Given the description of an element on the screen output the (x, y) to click on. 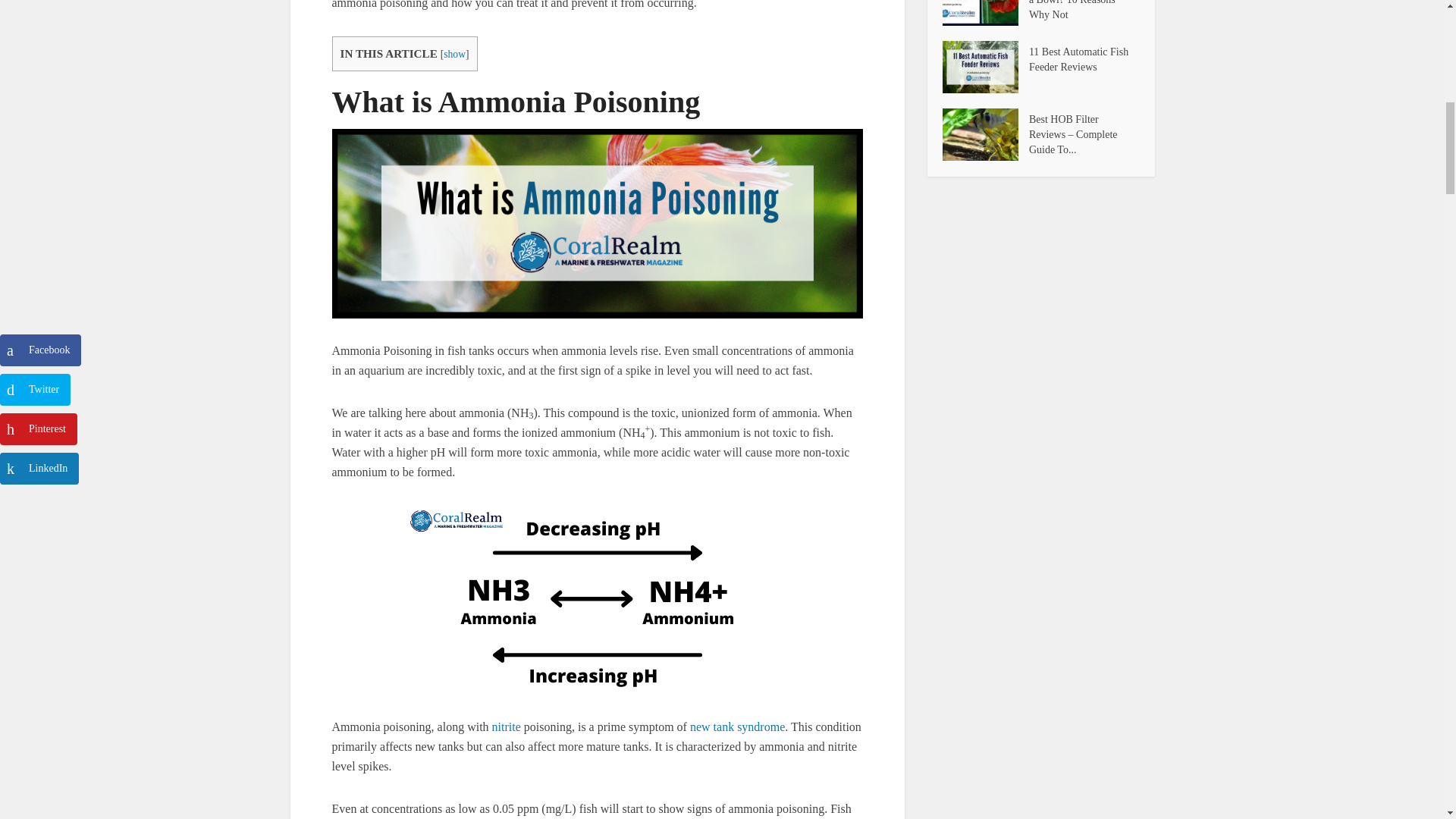
new tank syndrome (737, 726)
nitrite (506, 726)
show (454, 53)
